Given the description of an element on the screen output the (x, y) to click on. 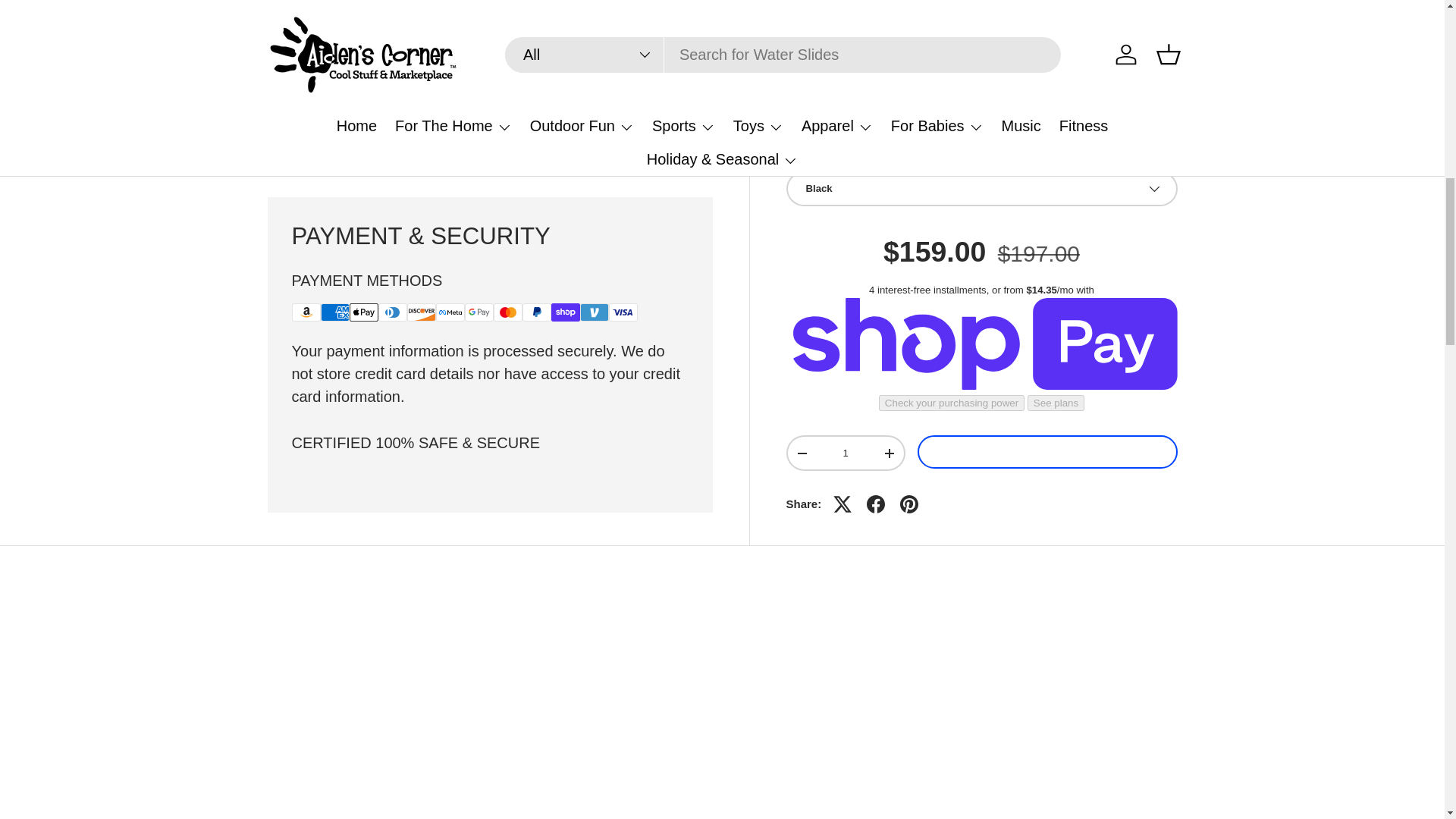
Pin on Pinterest (909, 159)
Share on Facebook (875, 159)
Tweet on X (842, 159)
1 (845, 108)
